Given the description of an element on the screen output the (x, y) to click on. 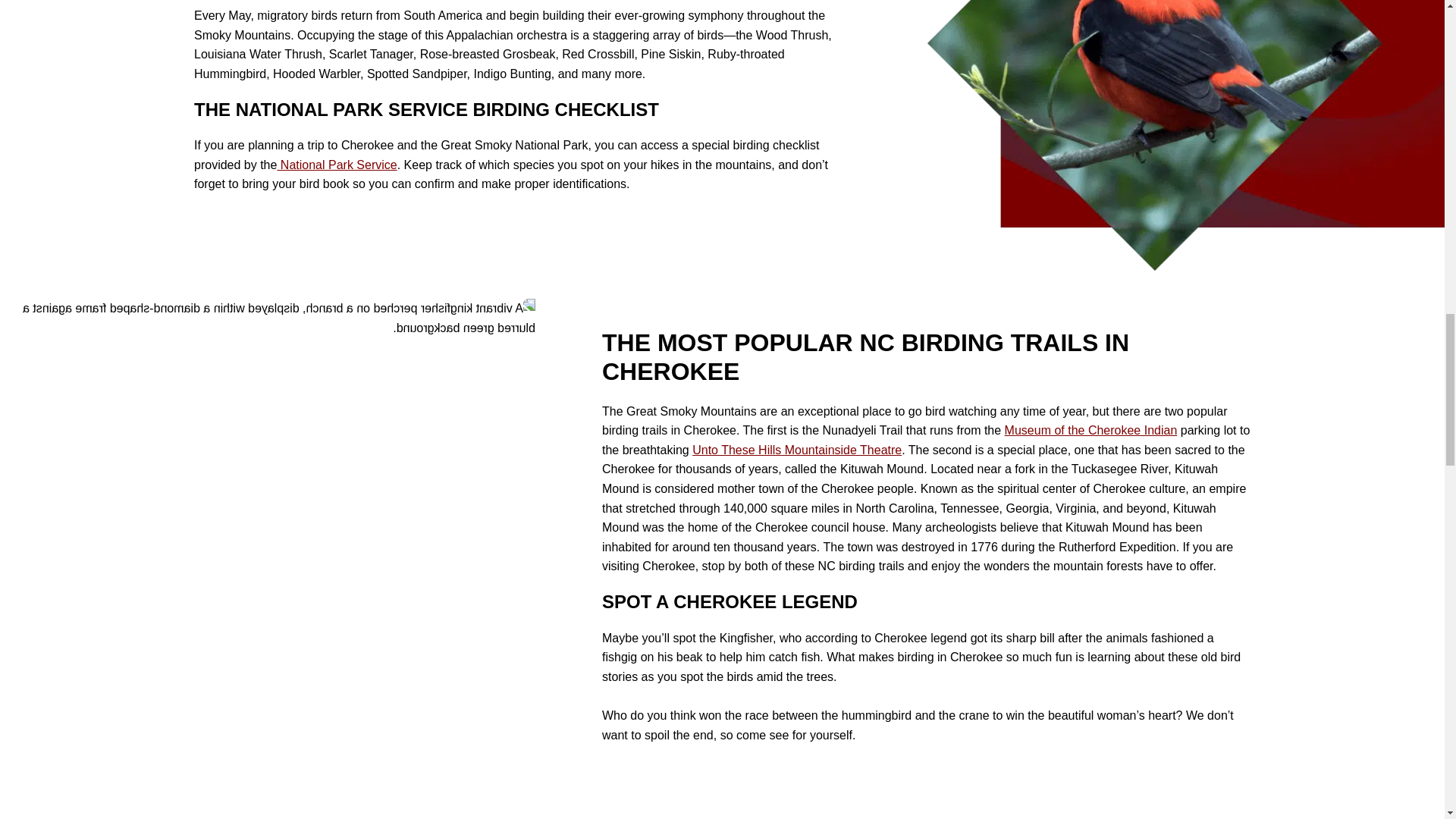
Unto These Hills Mountainside Theatre (336, 164)
Museum of the Cherokee Indian (797, 449)
